Given the description of an element on the screen output the (x, y) to click on. 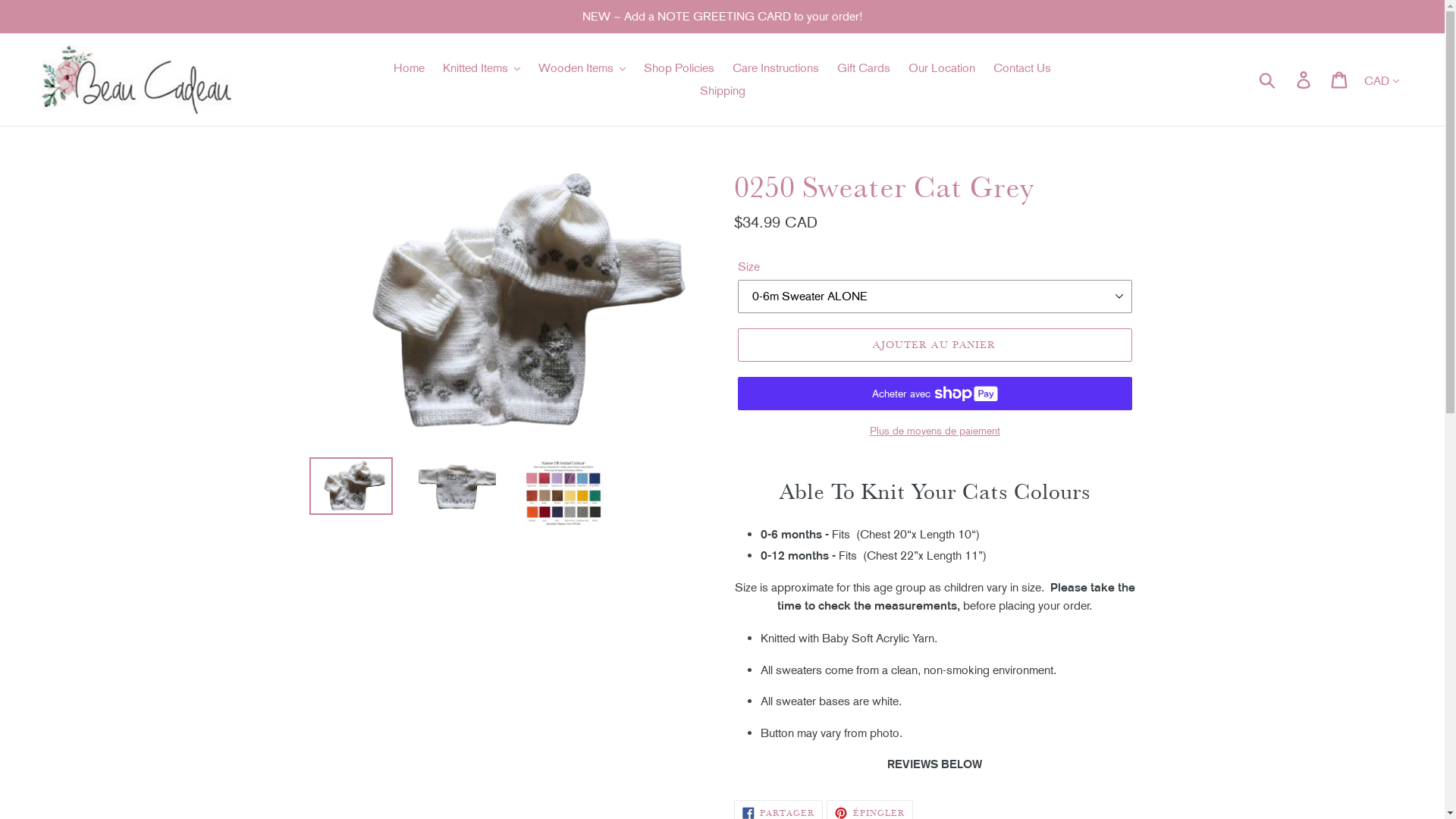
Shop Policies Element type: text (678, 67)
Contact Us Element type: text (1021, 67)
Soumettre Element type: text (1267, 79)
Our Location Element type: text (941, 67)
Gift Cards Element type: text (863, 67)
Home Element type: text (408, 67)
Shipping Element type: text (721, 90)
Care Instructions Element type: text (775, 67)
Plus de moyens de paiement Element type: text (934, 430)
AJOUTER AU PANIER Element type: text (934, 344)
Panier Element type: text (1340, 79)
Se connecter Element type: text (1304, 79)
